Given the description of an element on the screen output the (x, y) to click on. 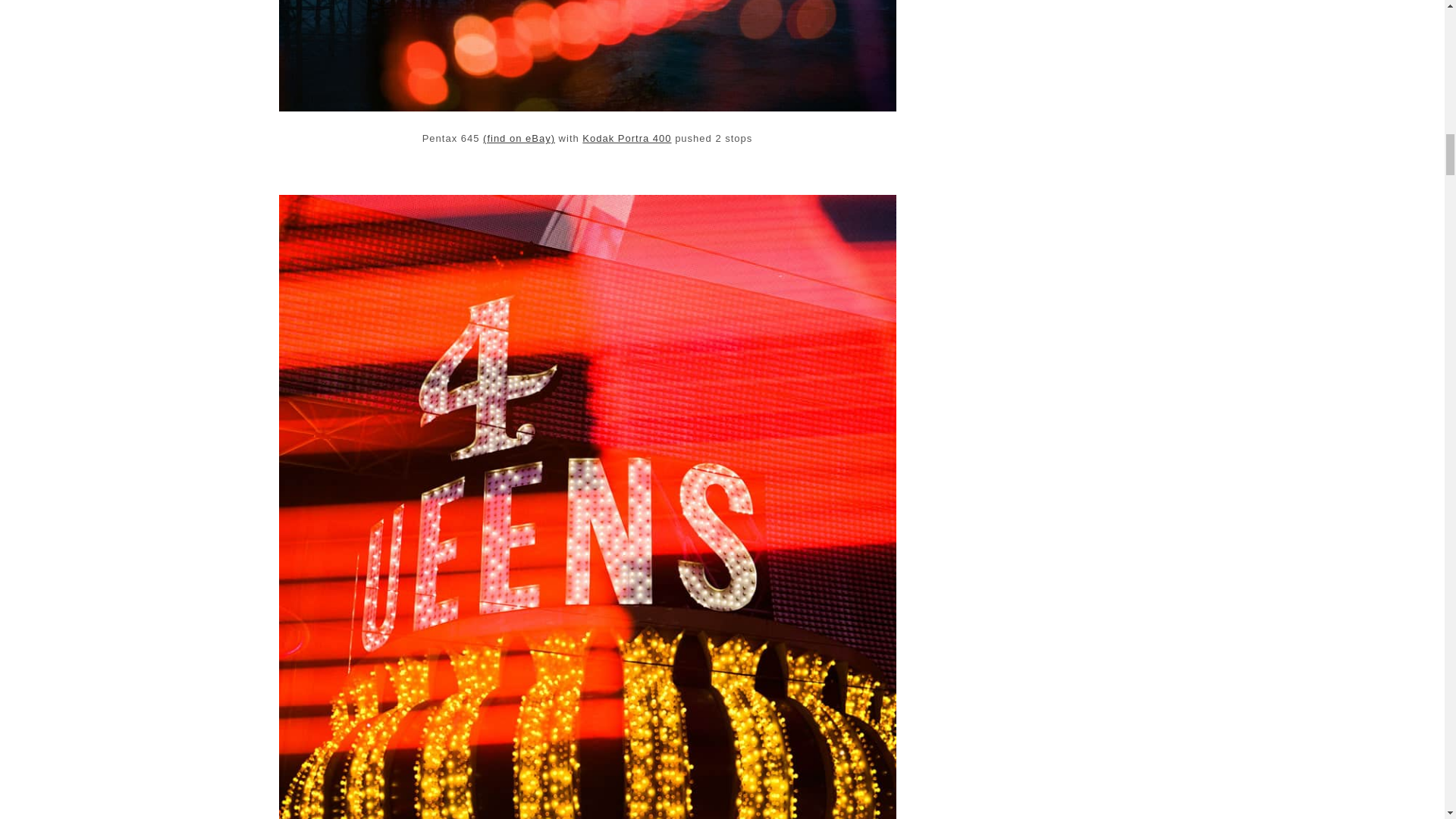
Kodak Portra 400 (626, 138)
